Given the description of an element on the screen output the (x, y) to click on. 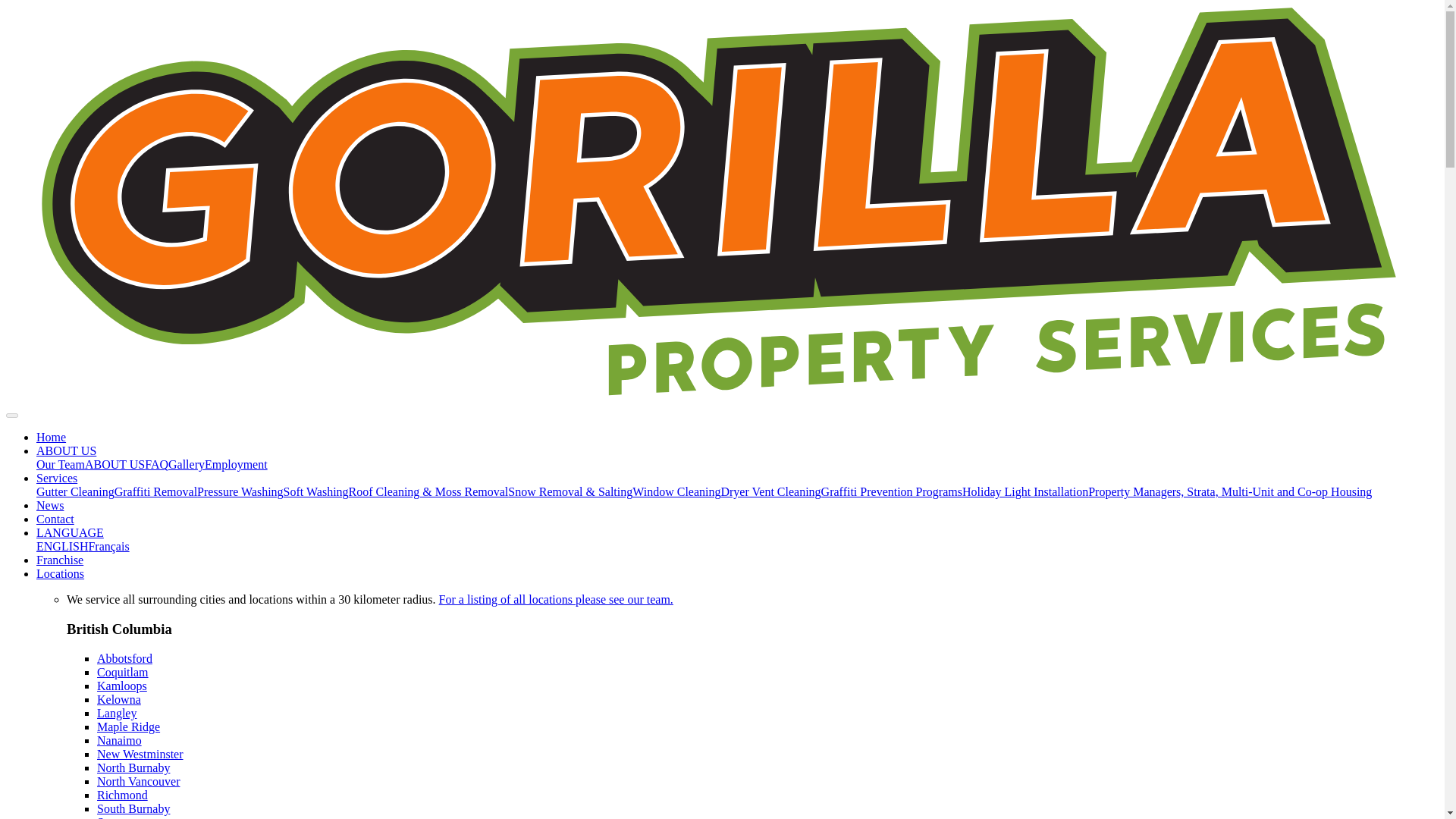
Nanaimo (119, 739)
Maple Ridge (128, 726)
Langley (116, 712)
FAQ (156, 463)
New Westminster (140, 753)
Home (50, 436)
Soft Washing (316, 491)
Gutter Cleaning (75, 491)
LANGUAGE (69, 532)
Kamloops (122, 685)
